Given the description of an element on the screen output the (x, y) to click on. 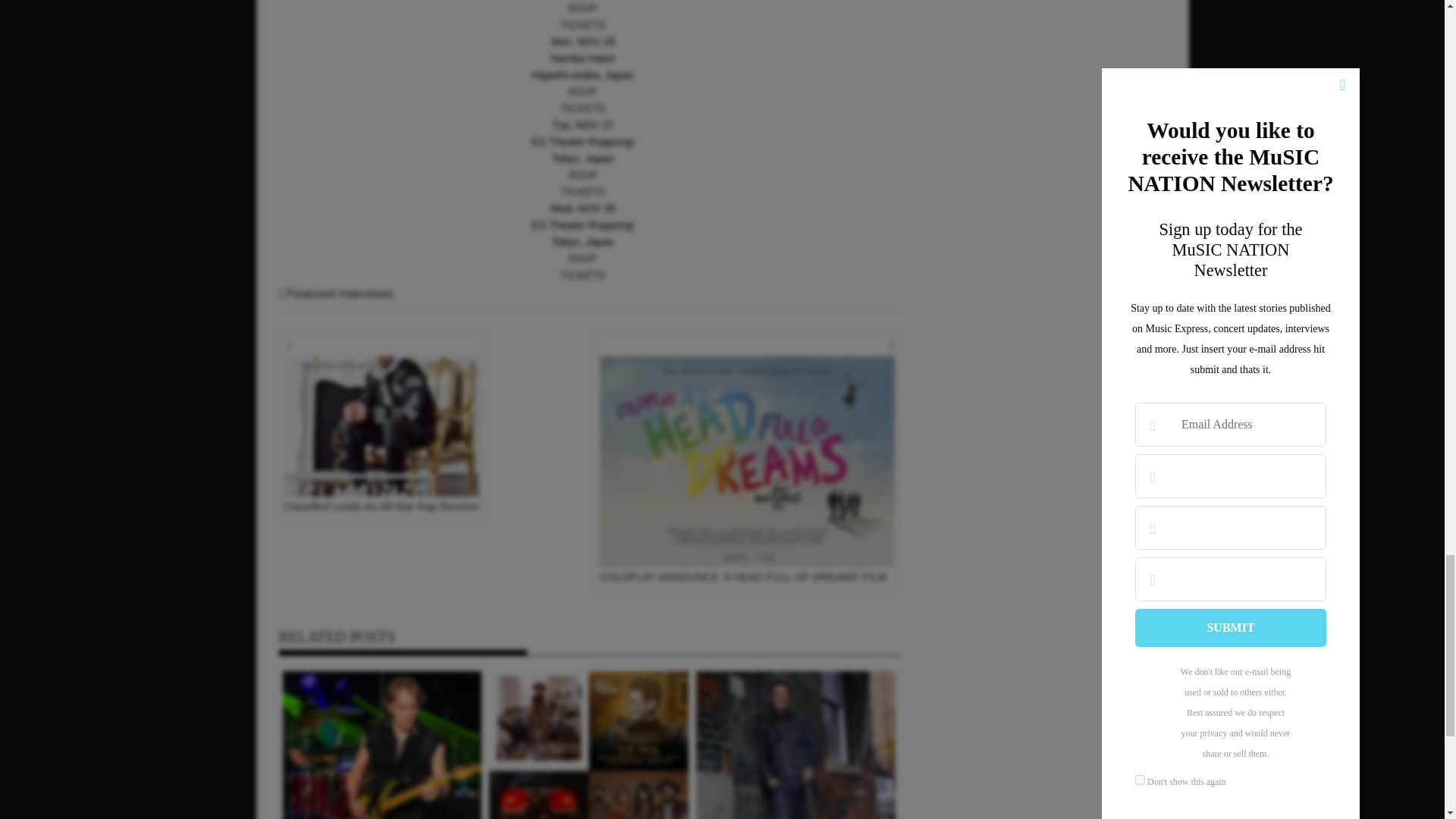
New Producer Injects Life Into Honeymoon Suite Release (381, 744)
